Given the description of an element on the screen output the (x, y) to click on. 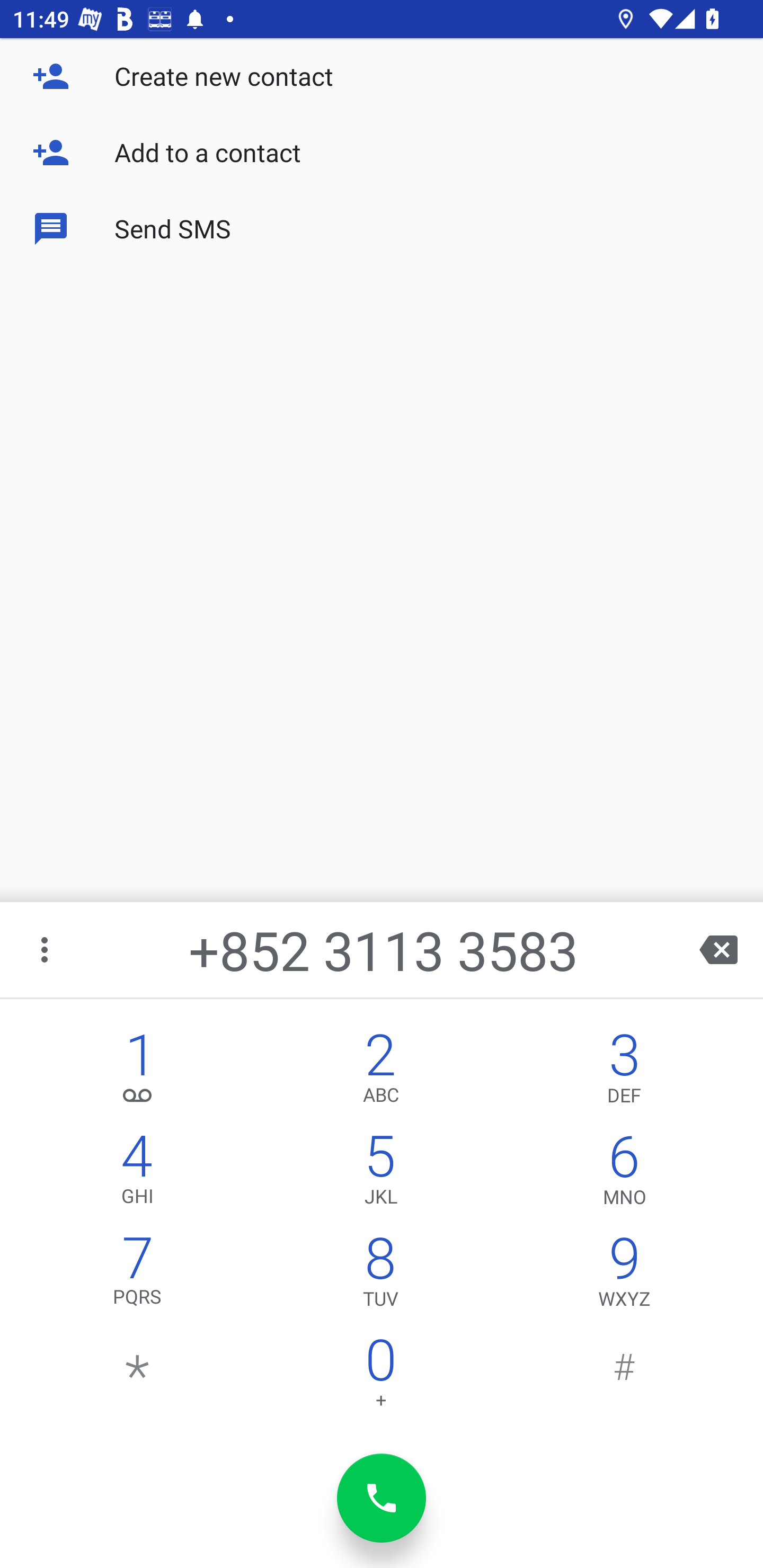
Create new contact (381, 75)
Add to a contact (381, 152)
Quick contact for +918069807777233 (70, 163)
Send SMS (381, 228)
+852 3113 3583 (382, 949)
backspace (718, 949)
More options (45, 949)
1, 1 (137, 1071)
2,ABC 2 ABC (380, 1071)
3,DEF 3 DEF (624, 1071)
4,GHI 4 GHI (137, 1173)
5,JKL 5 JKL (380, 1173)
6,MNO 6 MNO (624, 1173)
7,PQRS 7 PQRS (137, 1275)
8,TUV 8 TUV (380, 1275)
9,WXYZ 9 WXYZ (624, 1275)
* (137, 1377)
0 0 + (380, 1377)
# (624, 1377)
dial (381, 1497)
